Given the description of an element on the screen output the (x, y) to click on. 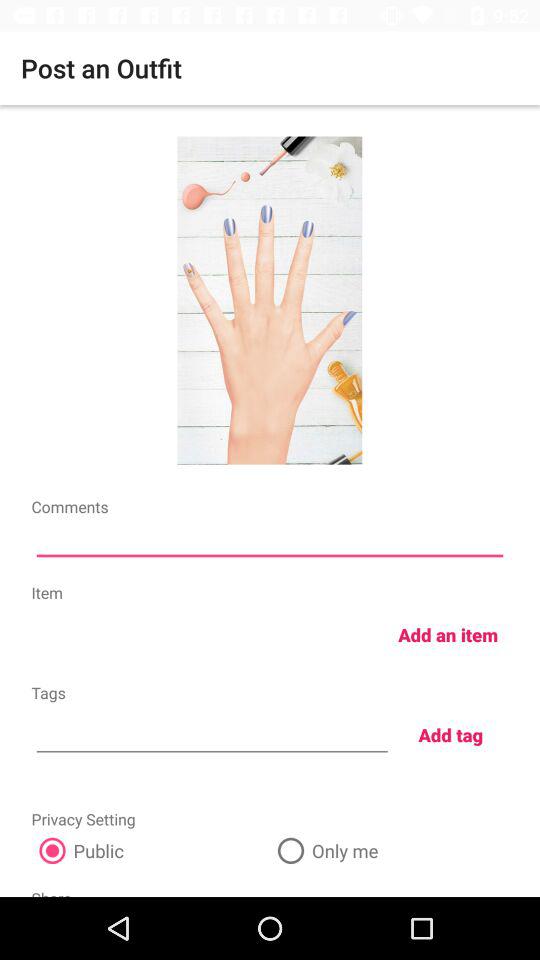
click the item to the left of add tag icon (212, 732)
